Given the description of an element on the screen output the (x, y) to click on. 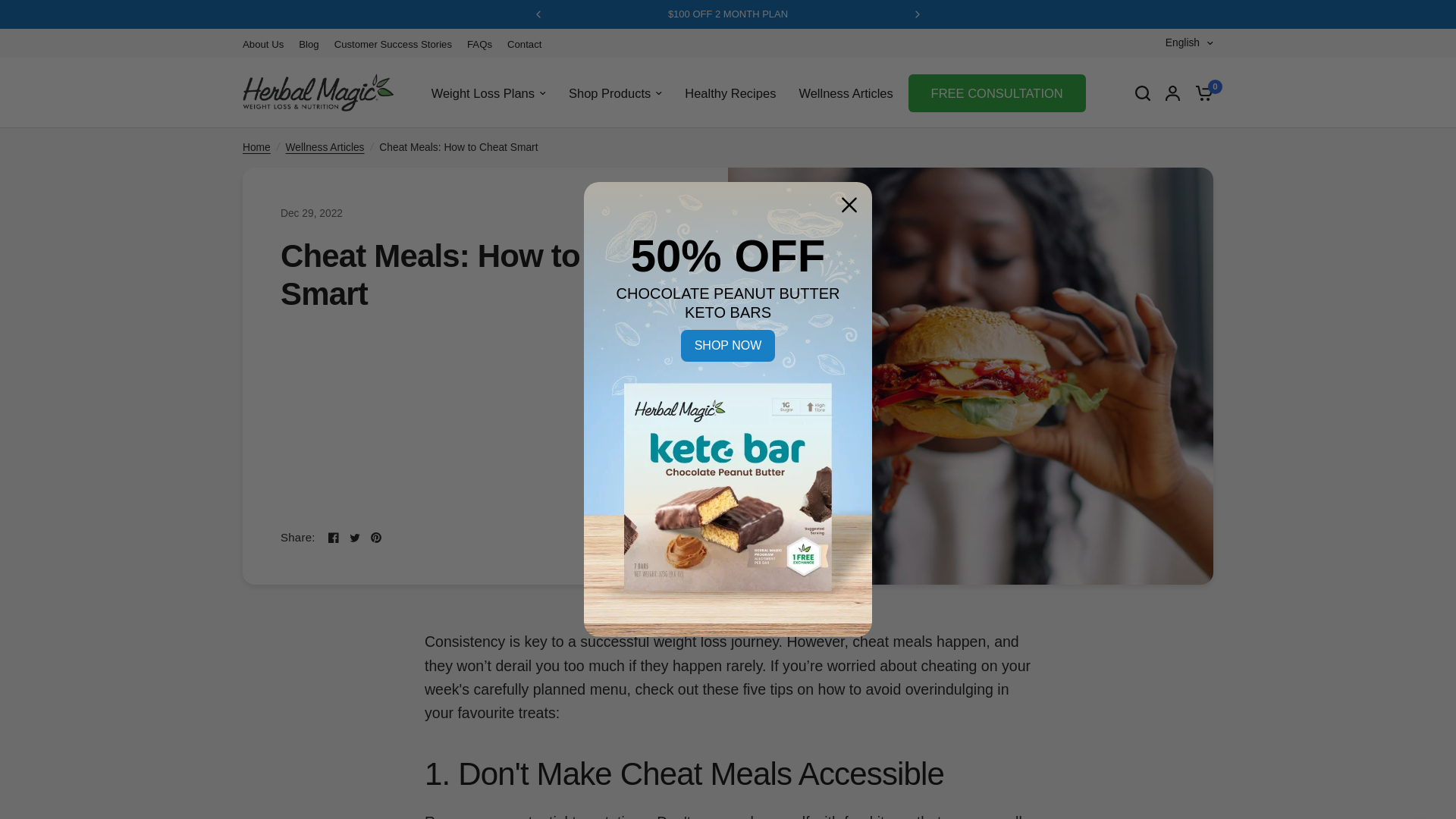
Blog (308, 44)
FAQs (479, 44)
English (1189, 43)
Contact (523, 44)
About Us (263, 44)
FAQs (479, 44)
Contact (523, 44)
Customer Success Stories (392, 44)
About Us (263, 44)
Weight Loss Plans (488, 93)
Customer Success Stories (392, 44)
Blog (308, 44)
